Given the description of an element on the screen output the (x, y) to click on. 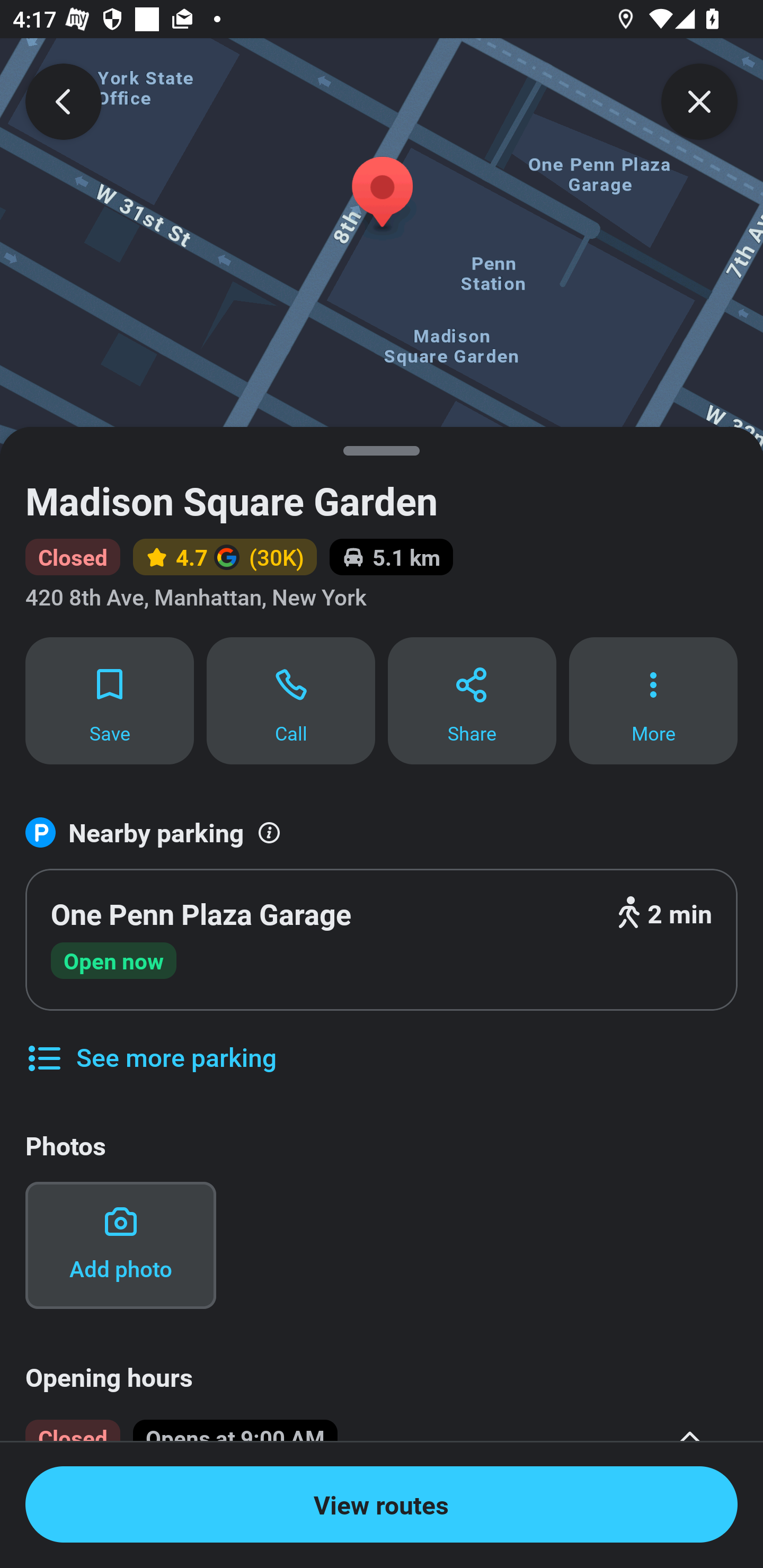
Save (109, 700)
Call (290, 700)
Share (471, 700)
More (653, 700)
One Penn Plaza Garage 2 min Open now (381, 939)
See more parking (150, 1043)
Add photo (120, 1245)
View routes (381, 1504)
